Given the description of an element on the screen output the (x, y) to click on. 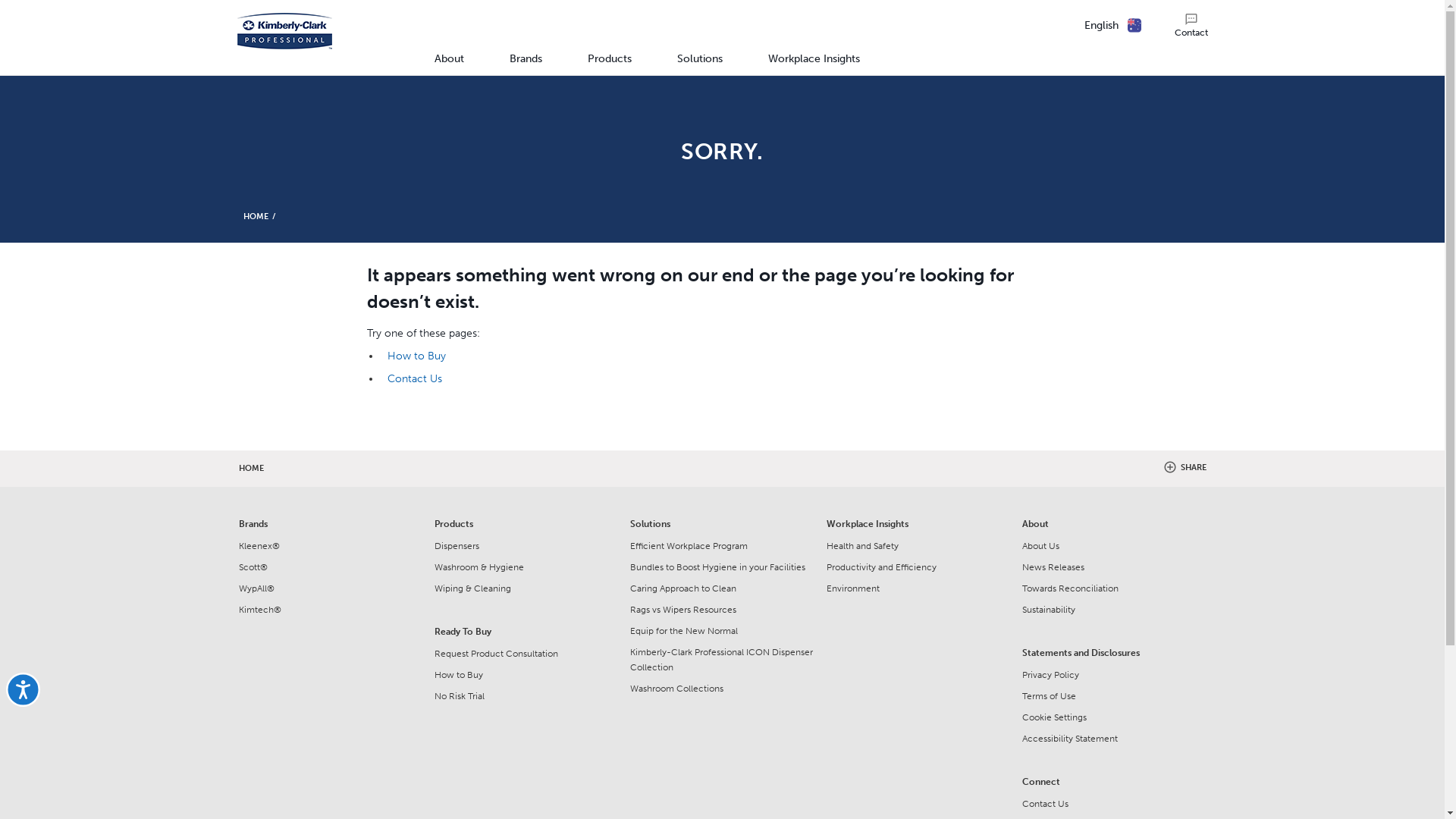
Solutions Element type: text (699, 60)
Request Product Consultation Element type: text (526, 653)
Cookie Settings Element type: text (1113, 716)
How to Buy Element type: text (526, 674)
Washroom Collections Element type: text (721, 688)
Wiping & Cleaning Element type: text (526, 588)
About Us Element type: text (1113, 545)
Accessibility Element type: text (40, 705)
add_circle_outlineSHARE Element type: text (1184, 467)
Productivity and Efficiency Element type: text (918, 566)
HOME Element type: text (250, 468)
HOME Element type: text (254, 216)
Products Element type: text (609, 60)
About Element type: text (448, 60)
Efficient Workplace Program Element type: text (721, 545)
Health and Safety Element type: text (918, 545)
Bundles to Boost Hygiene in your Facilities Element type: text (721, 566)
Contact Us Element type: text (414, 378)
Dispensers Element type: text (526, 545)
Kimberly-Clark Professional ICON Dispenser Collection Element type: text (721, 659)
Environment Element type: text (918, 588)
Workplace Insights Element type: text (813, 60)
English Element type: text (1101, 25)
Privacy Policy Element type: text (1113, 674)
Contact Us Element type: text (1113, 803)
Towards Reconciliation Element type: text (1113, 588)
Accessibility Statement Element type: text (1113, 738)
No Risk Trial Element type: text (526, 695)
Equip for the New Normal Element type: text (721, 630)
Brands Element type: text (525, 60)
Rags vs Wipers Resources Element type: text (721, 609)
How to Buy Element type: text (416, 355)
Caring Approach to Clean Element type: text (721, 588)
News Releases Element type: text (1113, 566)
Terms of Use Element type: text (1113, 695)
Washroom & Hygiene Element type: text (526, 566)
Sustainability Element type: text (1113, 609)
